Given the description of an element on the screen output the (x, y) to click on. 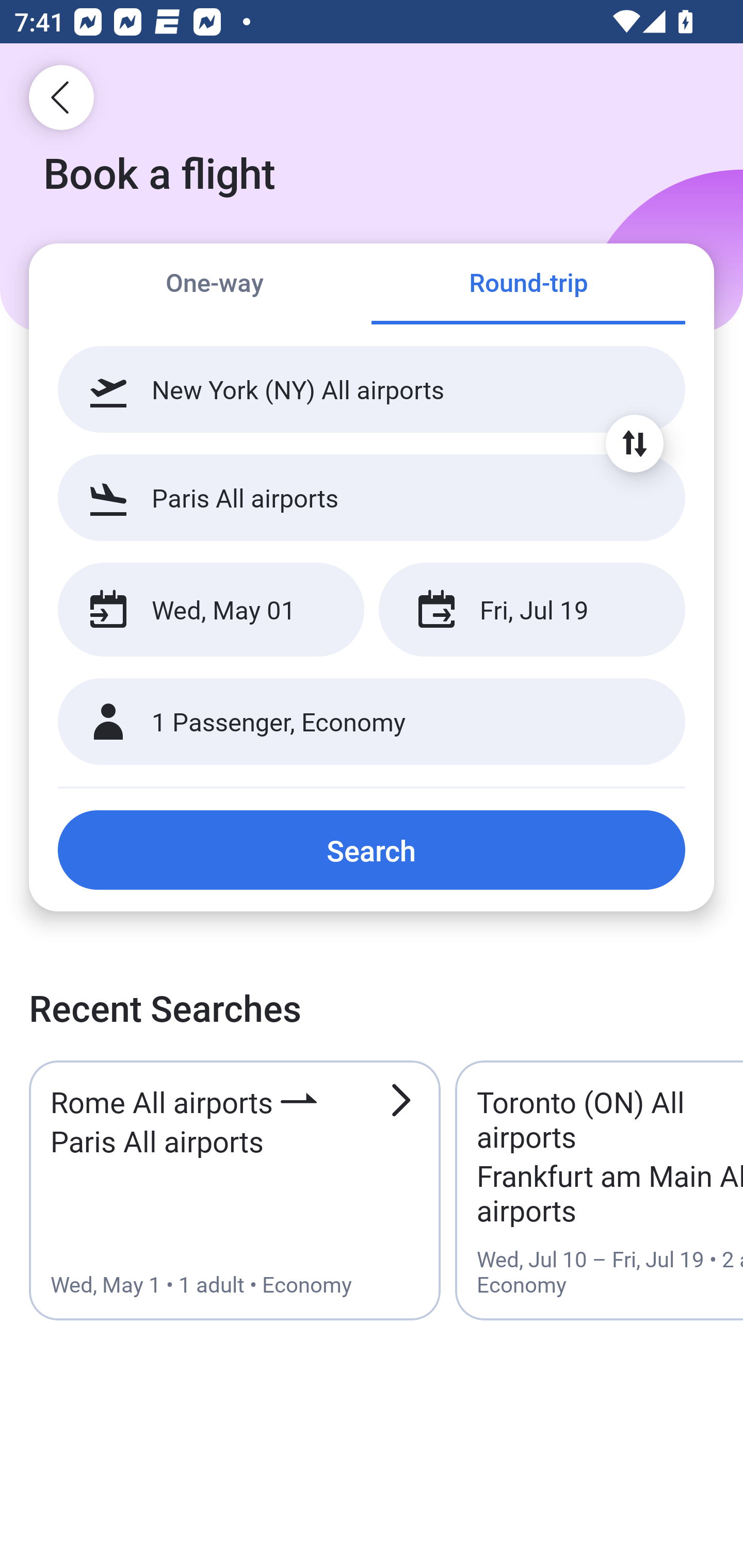
One-way (214, 284)
New York (NY) All airports (371, 389)
Paris All airports (371, 497)
Wed, May 01 (210, 609)
Fri, Jul 19 (531, 609)
1 Passenger, Economy (371, 721)
Search (371, 849)
